Given the description of an element on the screen output the (x, y) to click on. 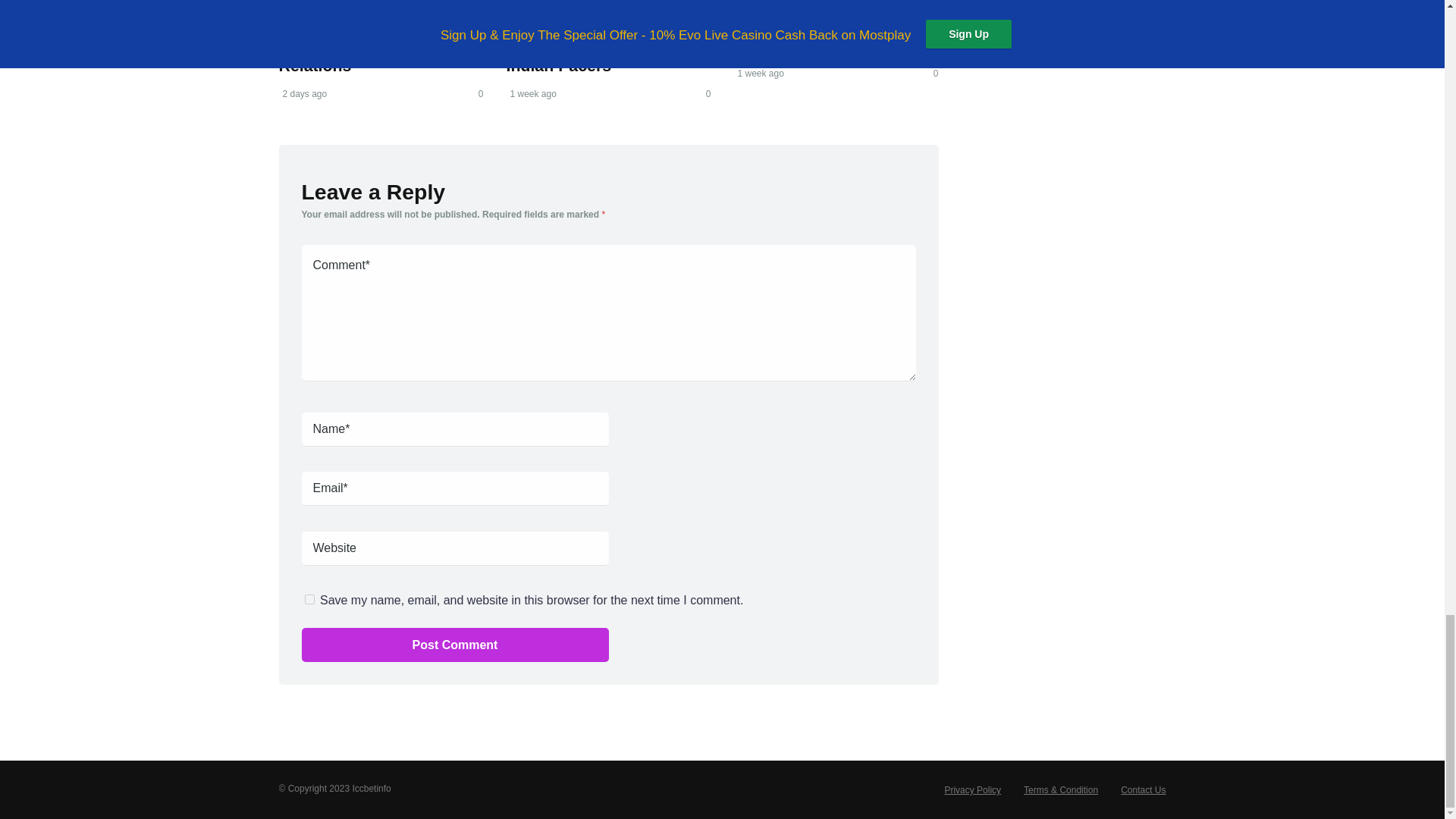
Impact Of Cricket On India-Bangladesh Relations (359, 45)
yes (309, 599)
Post Comment (454, 644)
Mastering The Yorker: Fast Bowling Tips From Indian Pacers (596, 45)
Impact Of Cricket On India-Bangladesh Relations (359, 45)
Mastering The Yorker: Fast Bowling Tips From Indian Pacers (596, 45)
